Given the description of an element on the screen output the (x, y) to click on. 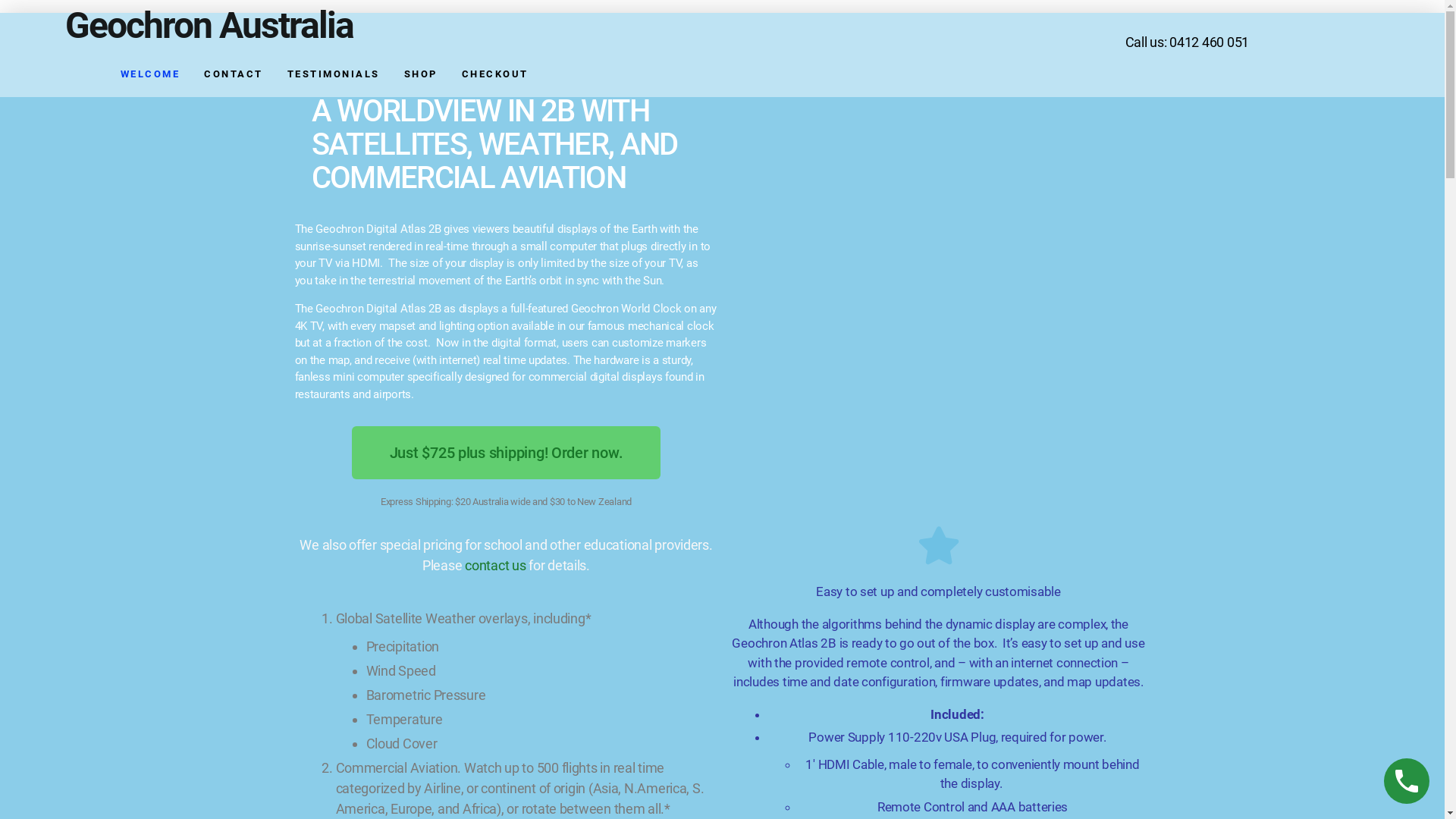
SHOP Element type: text (420, 74)
contact us Element type: text (494, 564)
CONTACT Element type: text (233, 74)
Geochron Australia Element type: text (209, 25)
TESTIMONIALS Element type: text (333, 74)
WELCOME Element type: text (150, 74)
CHECKOUT Element type: text (494, 74)
Just $725 plus shipping! Order now. Element type: text (506, 452)
